Given the description of an element on the screen output the (x, y) to click on. 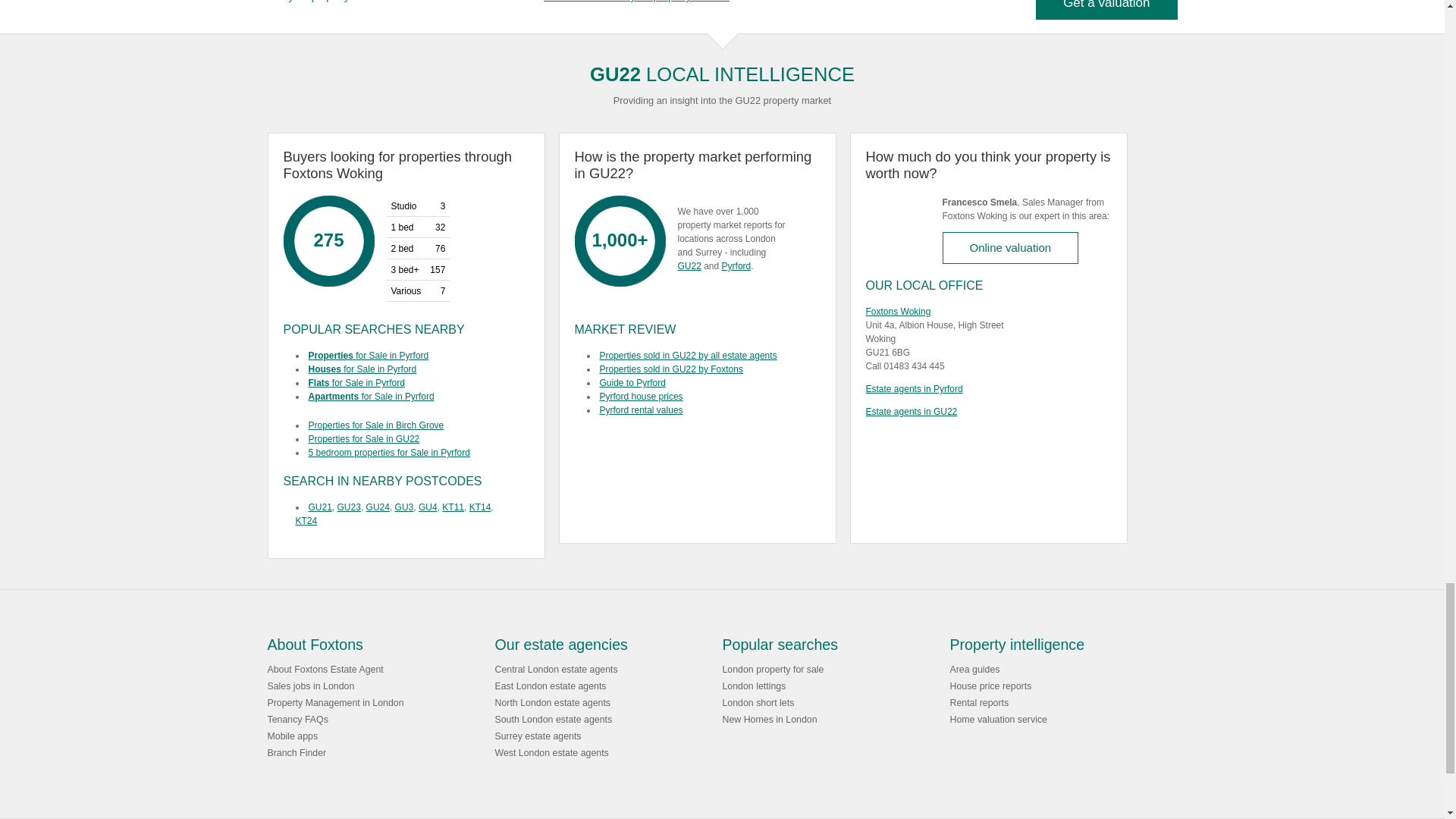
Flats in Pyrford (405, 382)
Houses in Pyrford (405, 368)
Pyrford properties (405, 355)
Apartments in Pyrford (405, 396)
